Given the description of an element on the screen output the (x, y) to click on. 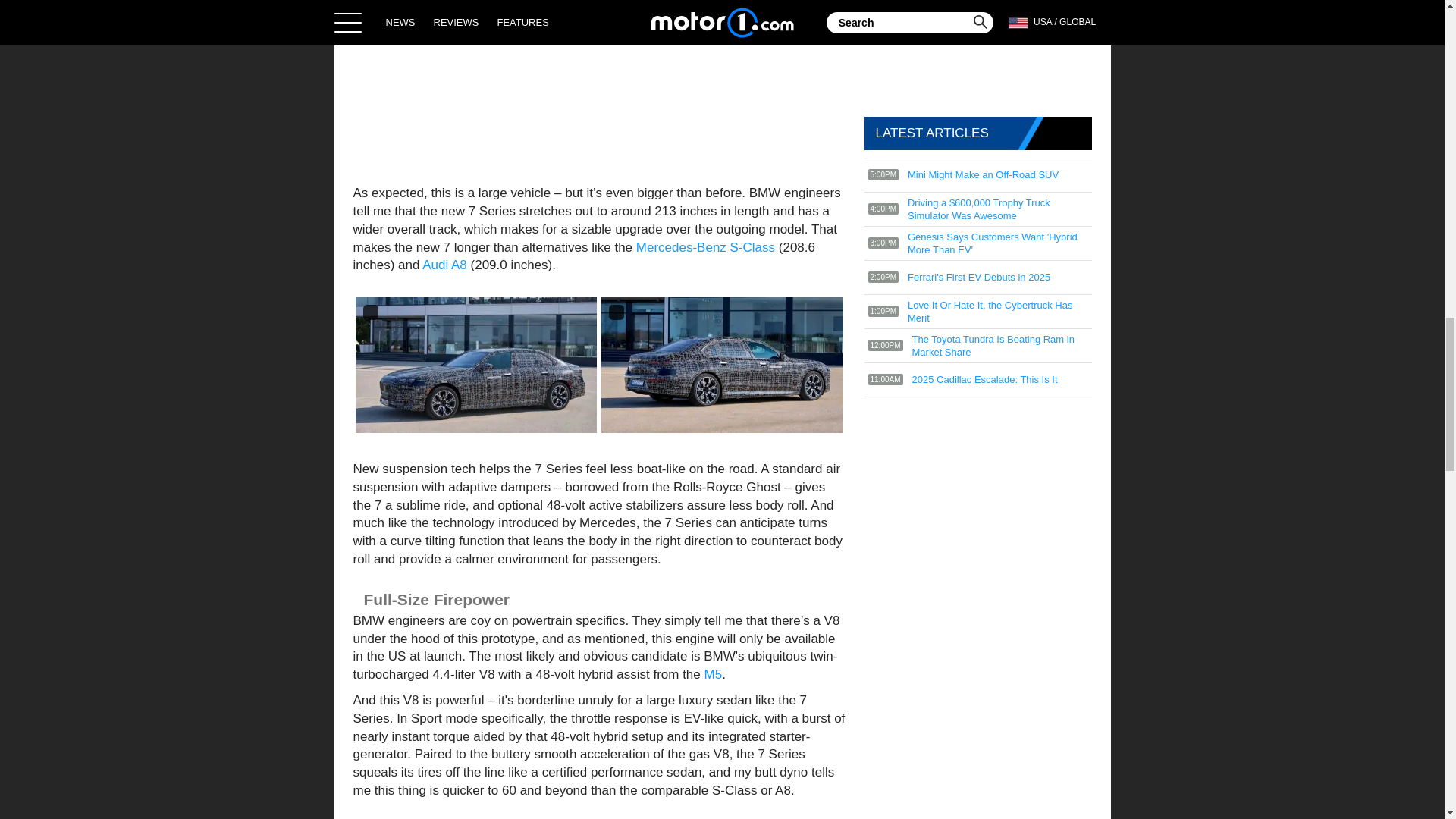
Audi A8 (444, 264)
Mercedes-Benz S-Class (705, 247)
M5 (712, 674)
